Given the description of an element on the screen output the (x, y) to click on. 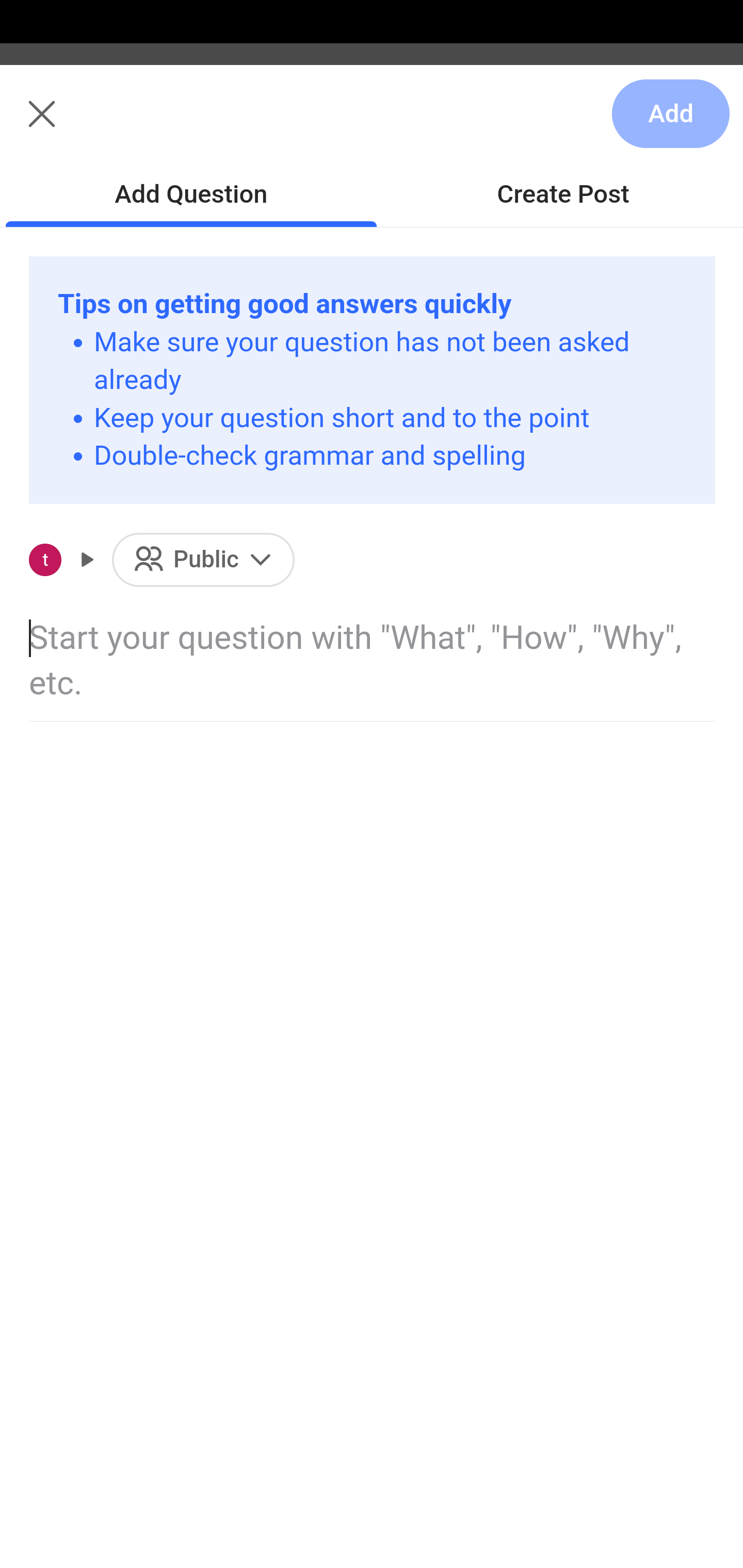
Me (64, 125)
